Given the description of an element on the screen output the (x, y) to click on. 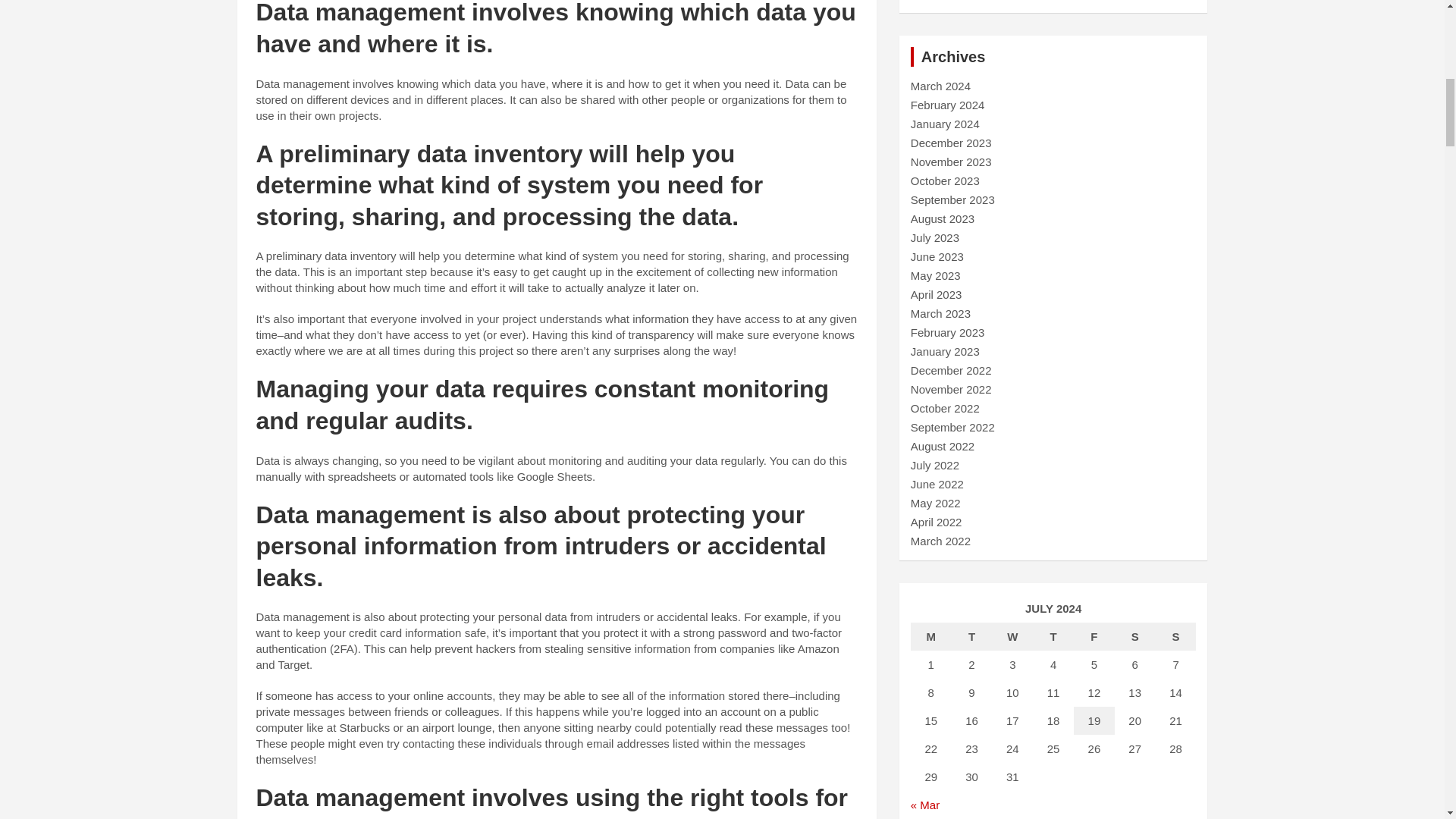
March 2024 (941, 85)
Sunday (1176, 636)
Tuesday (972, 636)
December 2023 (951, 142)
November 2023 (951, 161)
January 2024 (945, 123)
Friday (1094, 636)
Monday (931, 636)
Thursday (1053, 636)
February 2024 (948, 104)
Saturday (1135, 636)
Wednesday (1011, 636)
